Given the description of an element on the screen output the (x, y) to click on. 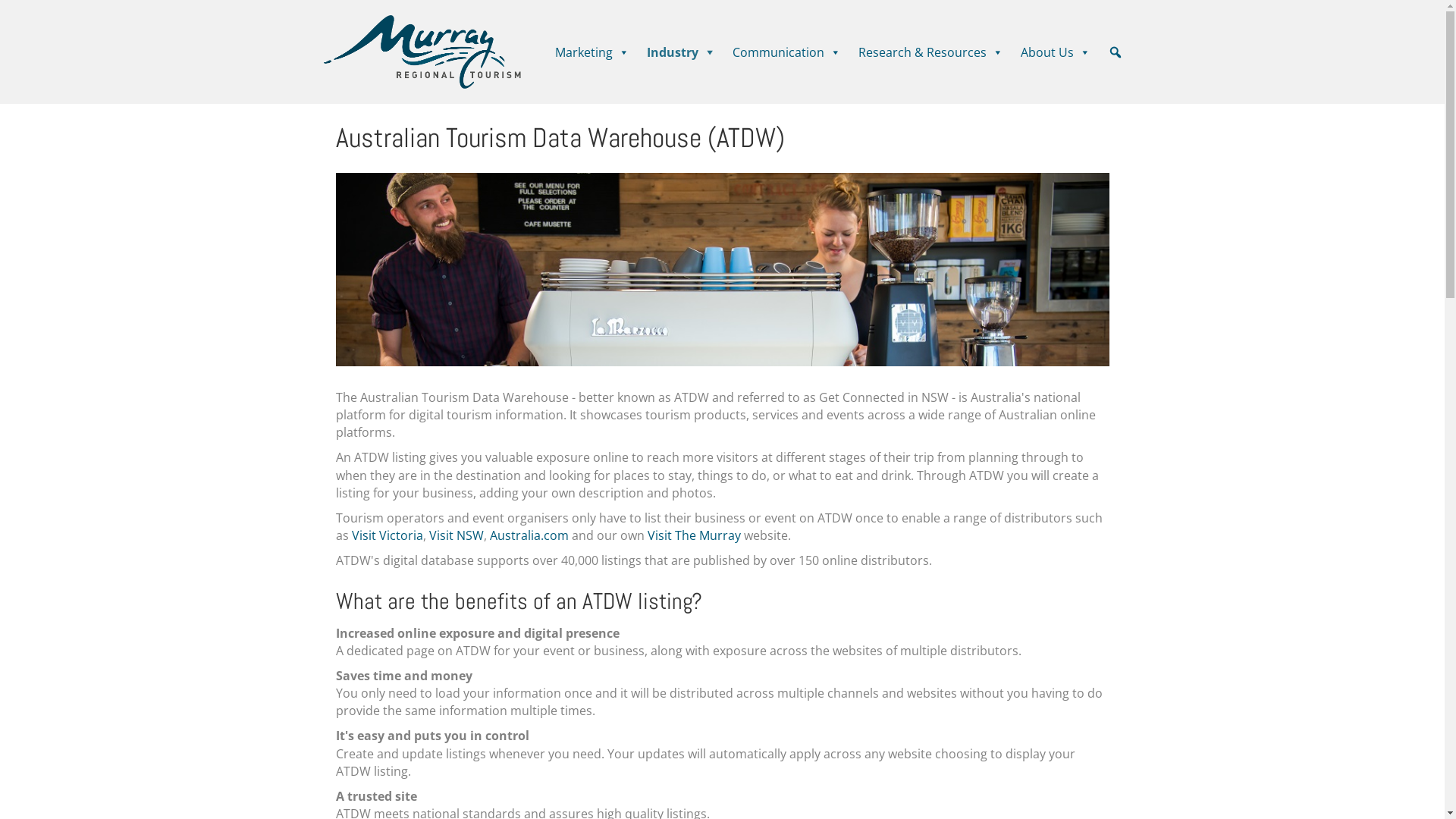
About Us Element type: text (1056, 52)
Visit Victoria Element type: text (387, 535)
Marketing Element type: text (593, 52)
Industry Element type: text (681, 52)
Communication Element type: text (787, 52)
Australia.com Element type: text (528, 535)
Research & Resources Element type: text (931, 52)
Visit The Murray Element type: text (693, 535)
Visit NSW Element type: text (456, 535)
Search Element type: text (15, 12)
Cafe Musette Albury Coffee Making Element type: hover (721, 269)
LOGO Murray Regional Tourism Element type: hover (421, 51)
